Given the description of an element on the screen output the (x, y) to click on. 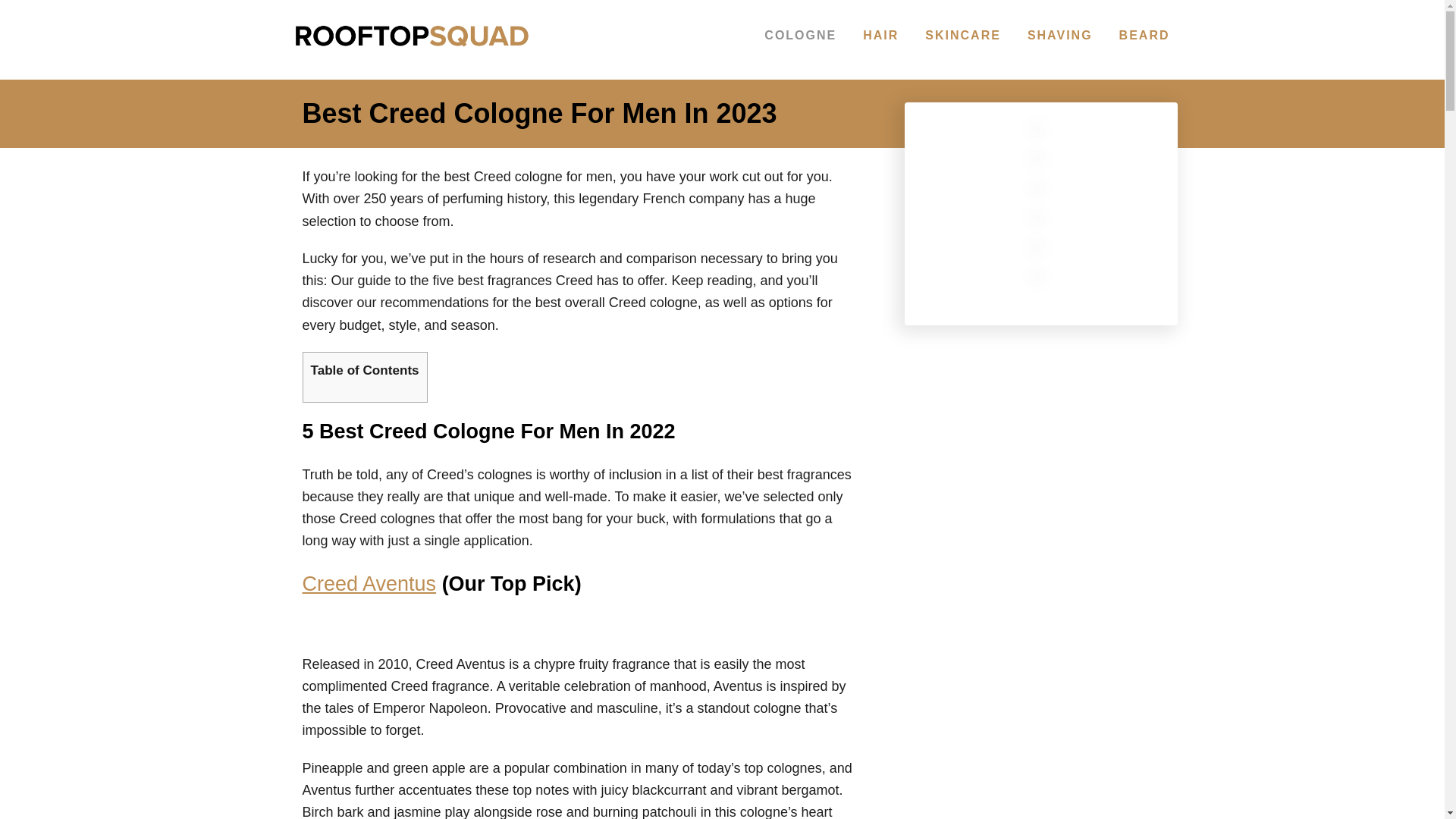
COLOGNE (800, 35)
Rooftop Squad (411, 50)
SHAVING (1060, 35)
BEARD (1144, 35)
HAIR (880, 35)
Creed Aventus (368, 583)
SKINCARE (963, 35)
